Given the description of an element on the screen output the (x, y) to click on. 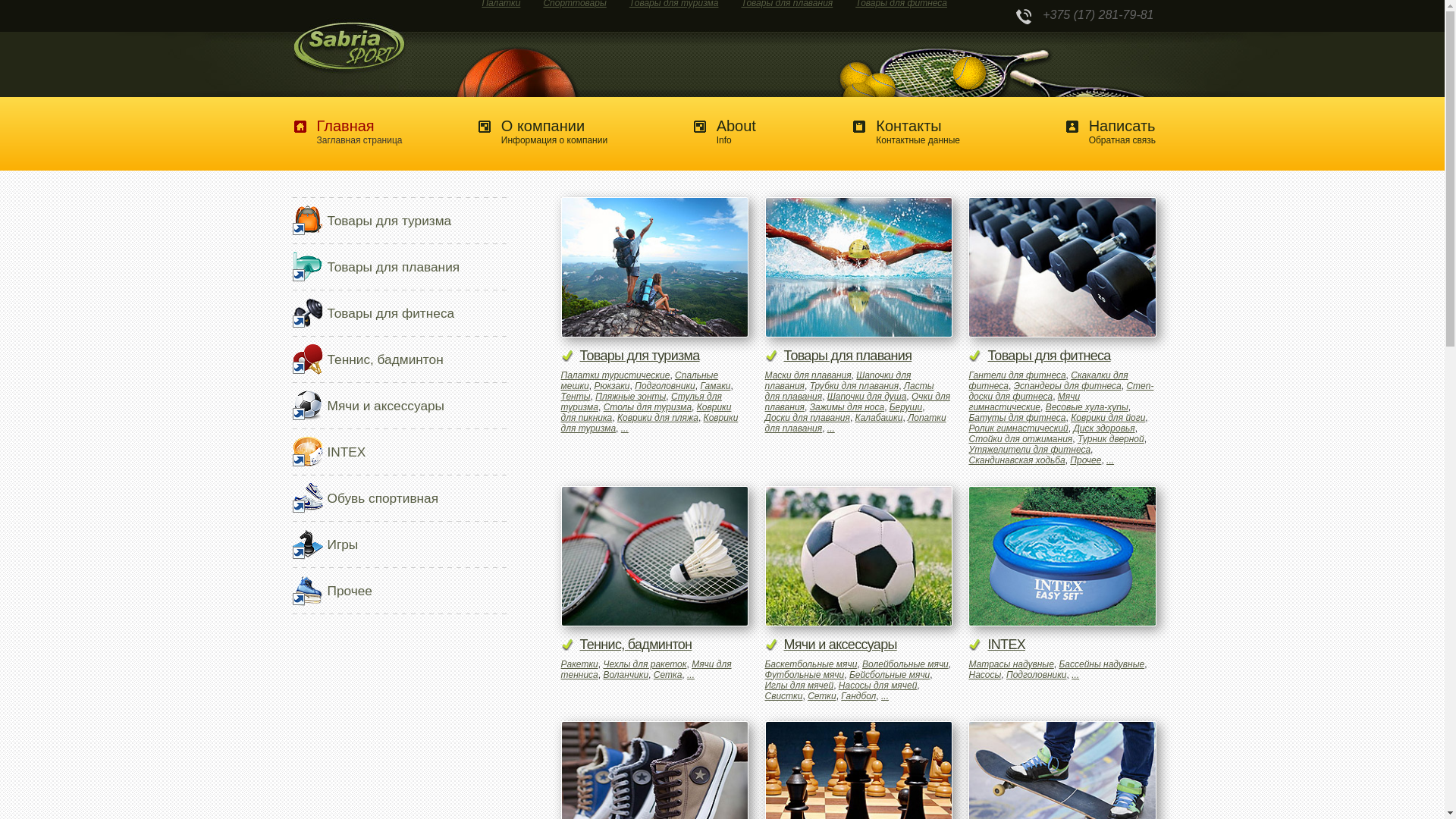
+375 (17) 281-79-81 Element type: hover (1023, 18)
... Element type: text (690, 674)
INTEX Element type: text (1062, 638)
About
Info Element type: text (713, 131)
... Element type: text (1109, 460)
INTEX Element type: hover (1062, 556)
... Element type: text (624, 428)
... Element type: text (884, 695)
INTEX Element type: text (346, 451)
+375 (17) 281-79-81 Element type: text (716, 18)
http://www.sabriasport.by Element type: hover (345, 48)
... Element type: text (830, 428)
... Element type: text (1075, 674)
